Given the description of an element on the screen output the (x, y) to click on. 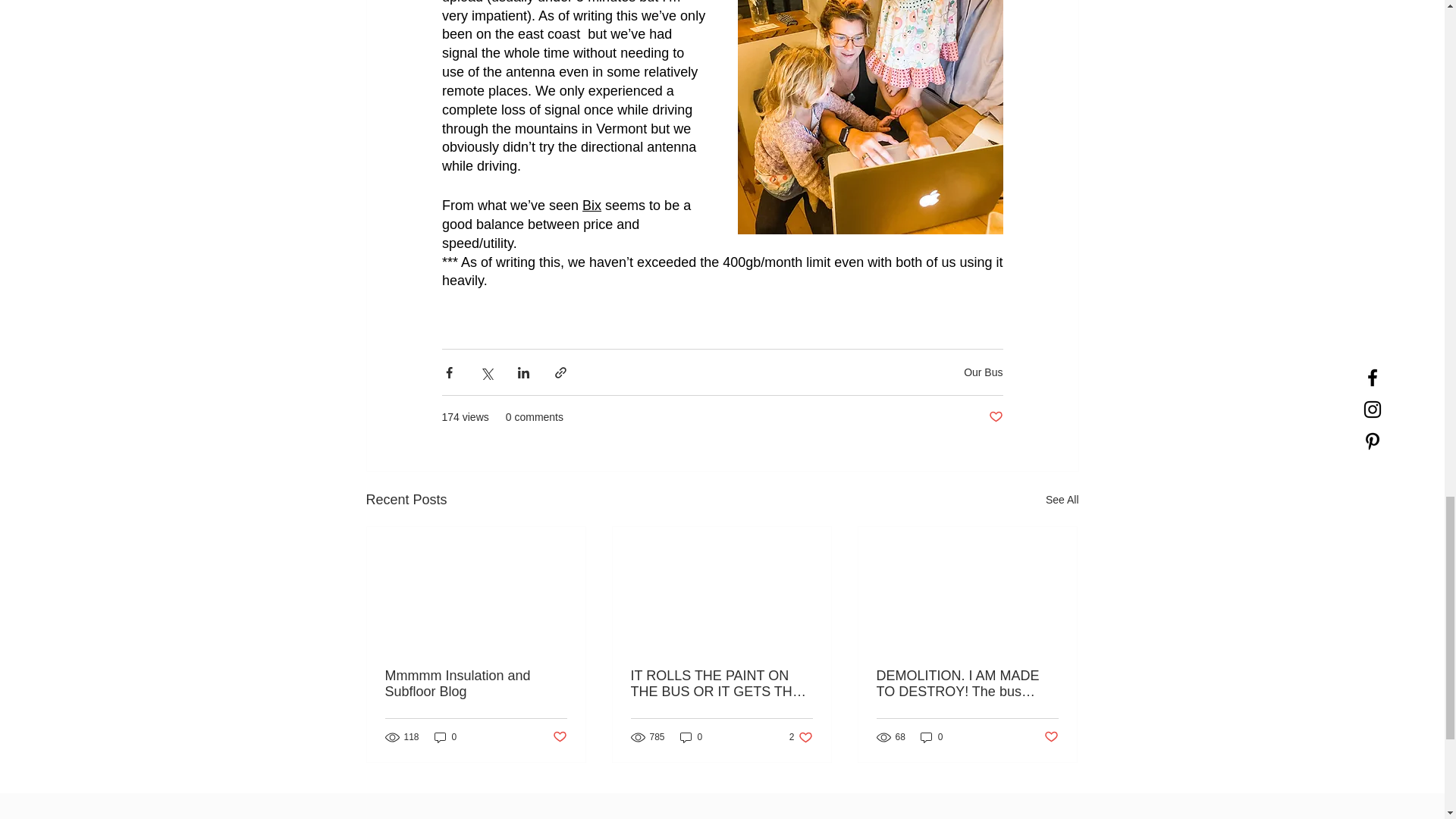
Post not marked as liked (558, 737)
See All (1061, 499)
0 (931, 737)
Post not marked as liked (800, 737)
0 (1050, 737)
Bix (691, 737)
Our Bus (591, 205)
0 (983, 372)
Mmmmm Insulation and Subfloor Blog (445, 737)
Post not marked as liked (476, 684)
IT ROLLS THE PAINT ON THE BUS OR IT GETS THE HOSE AGAIN (995, 417)
